Given the description of an element on the screen output the (x, y) to click on. 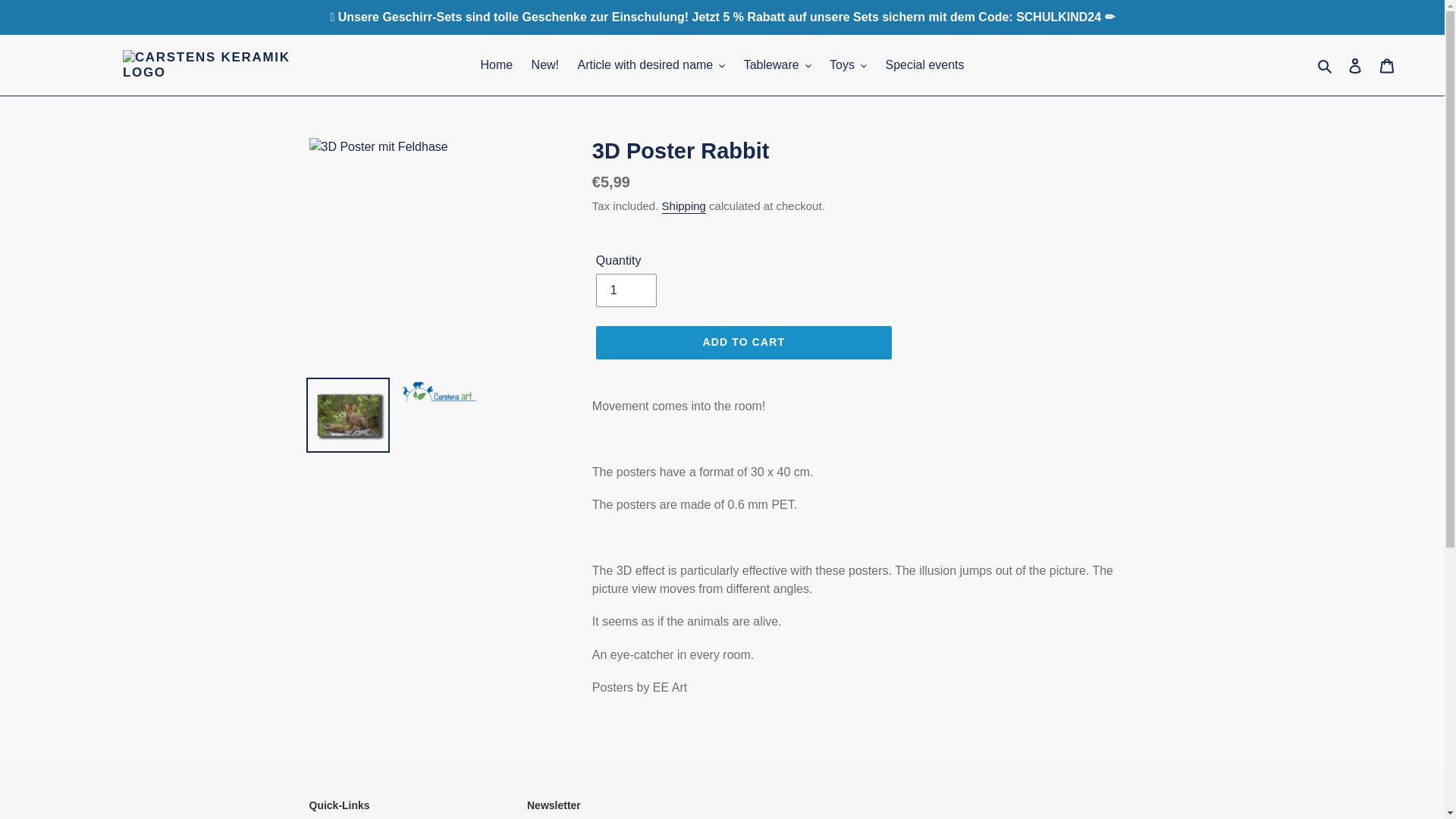
Search (1326, 65)
Toys (848, 65)
Special events (924, 65)
Article with desired name (651, 65)
1 (625, 290)
Cart (1387, 64)
New! (545, 65)
Log in (1355, 64)
Tableware (777, 65)
Home (495, 65)
